Given the description of an element on the screen output the (x, y) to click on. 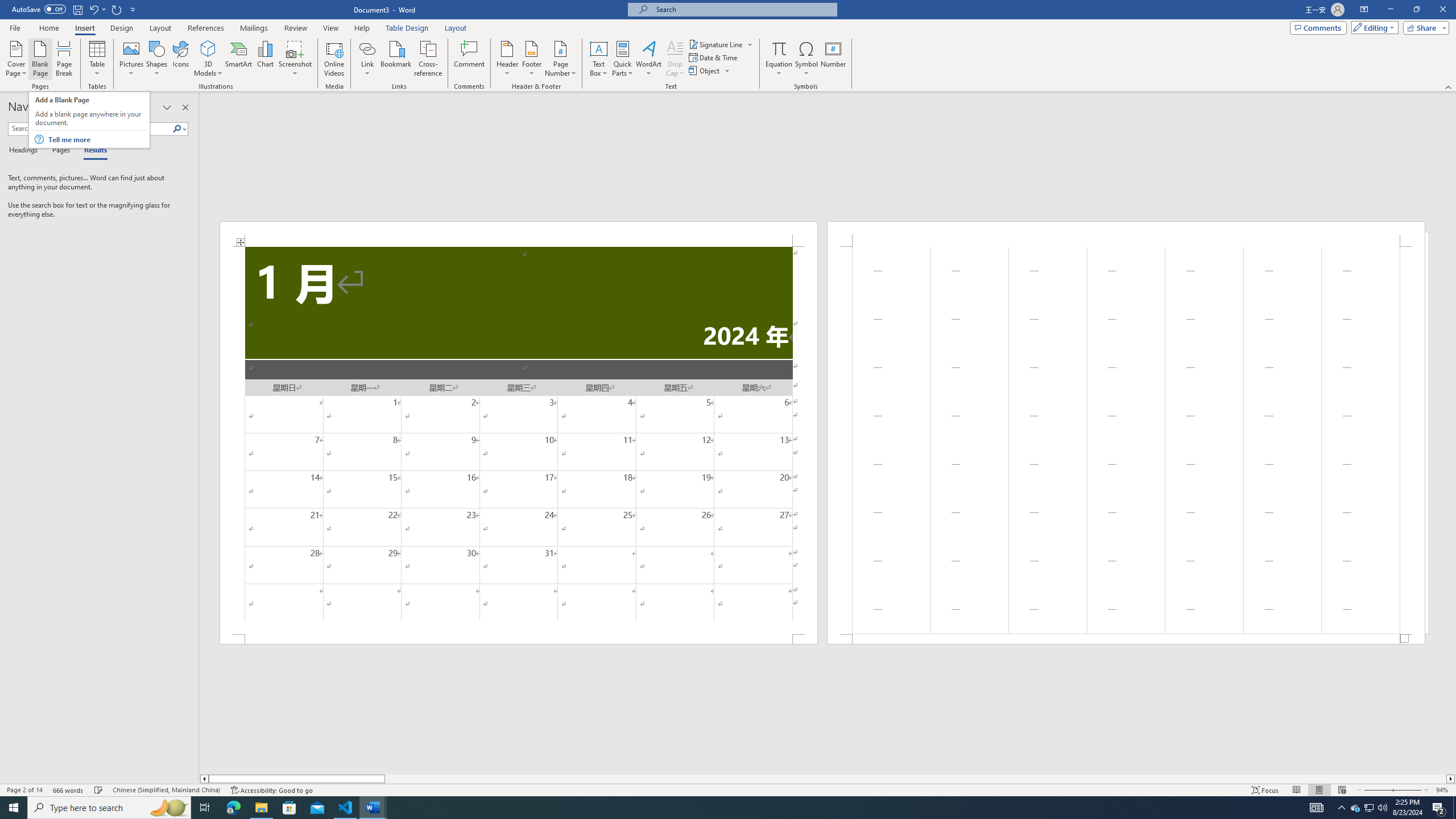
Signature Line (721, 44)
Number... (833, 58)
Undo Apply Quick Style (92, 9)
Chart... (265, 58)
Page right (914, 778)
Page Number (560, 58)
